Given the description of an element on the screen output the (x, y) to click on. 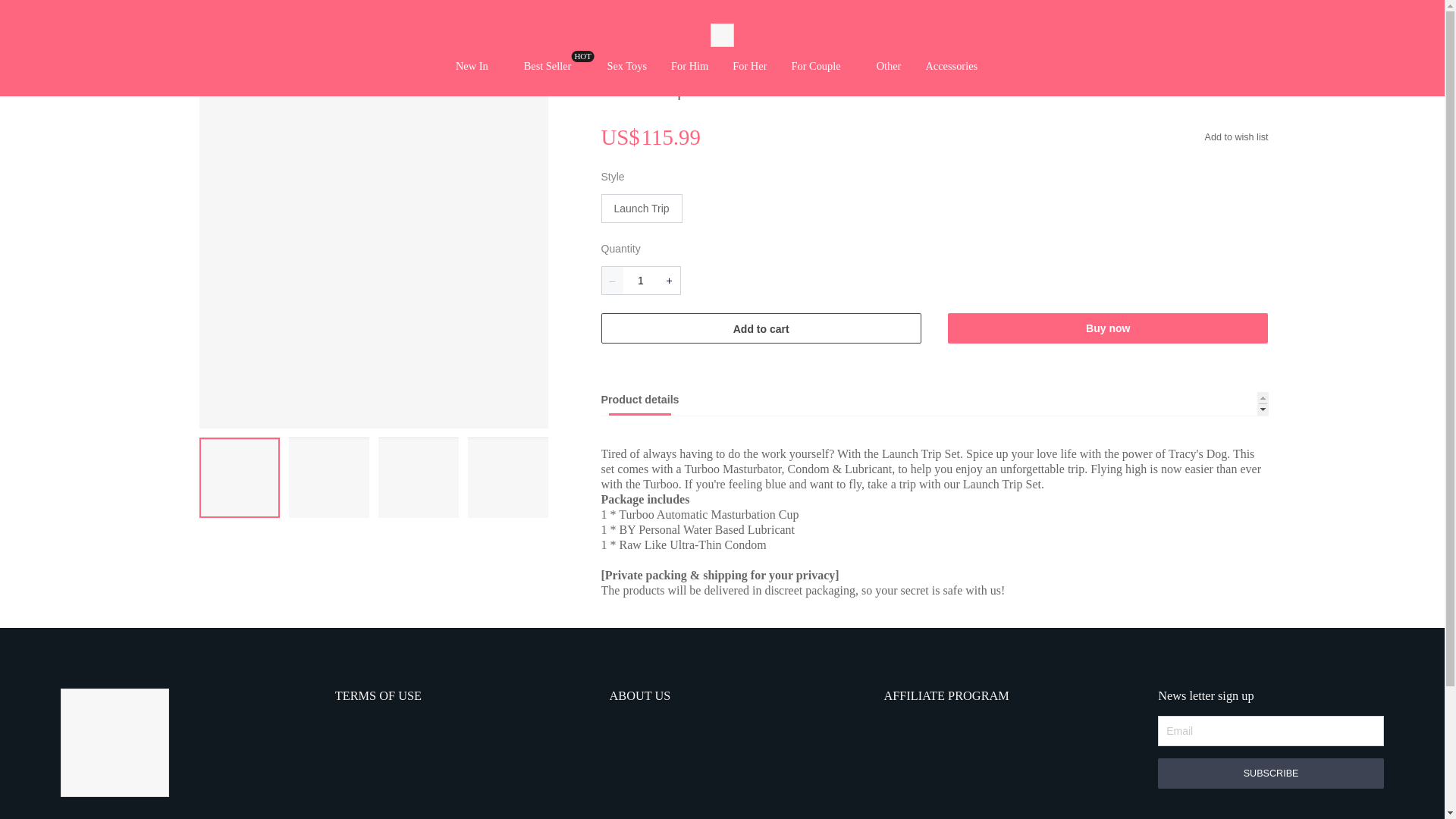
For Him (689, 67)
logo (114, 744)
Sex Toys (626, 67)
Product details (933, 403)
For Her (749, 67)
1 (548, 67)
New In (641, 280)
